Given the description of an element on the screen output the (x, y) to click on. 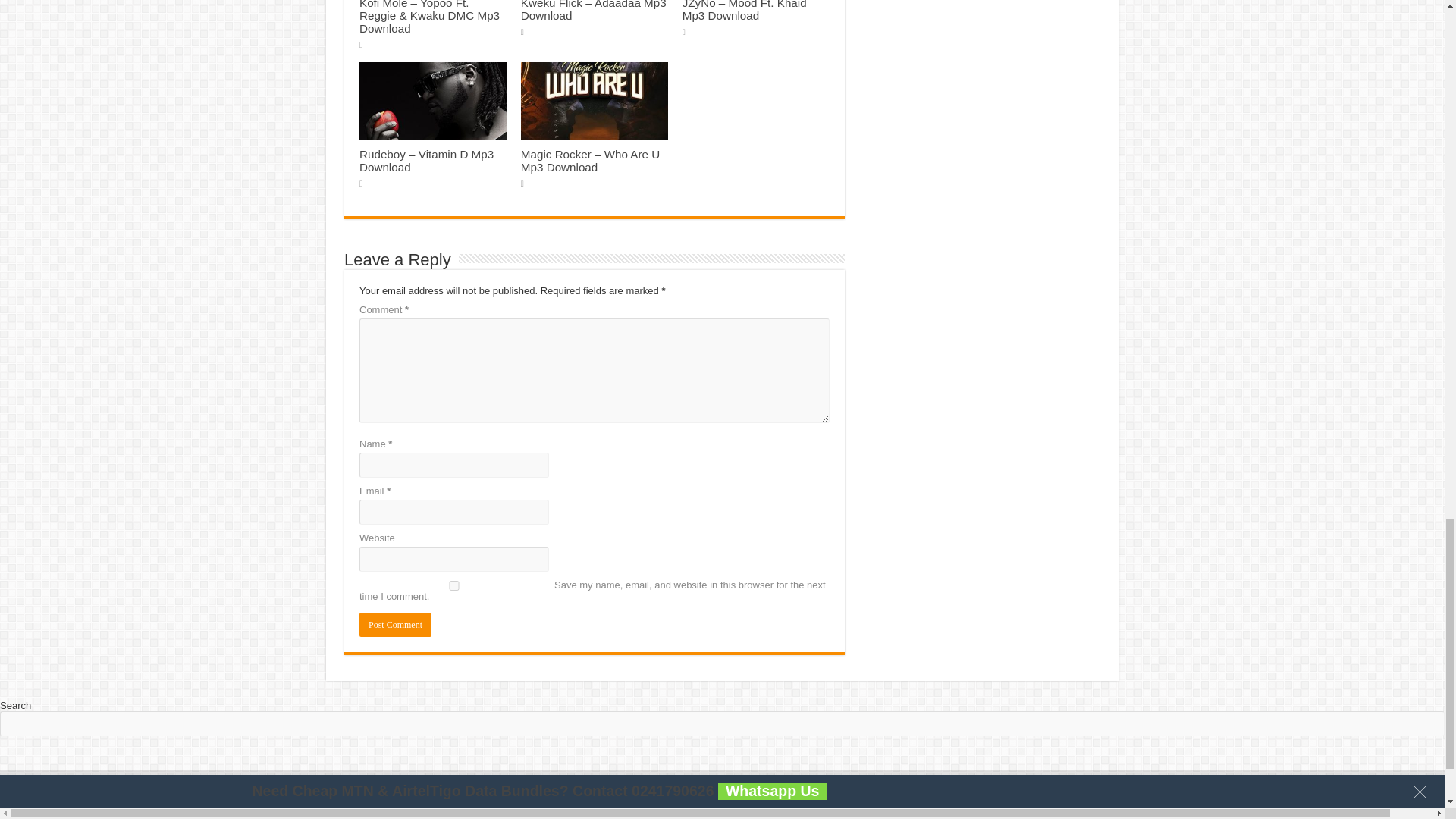
Post Comment (394, 624)
yes (453, 585)
